Given the description of an element on the screen output the (x, y) to click on. 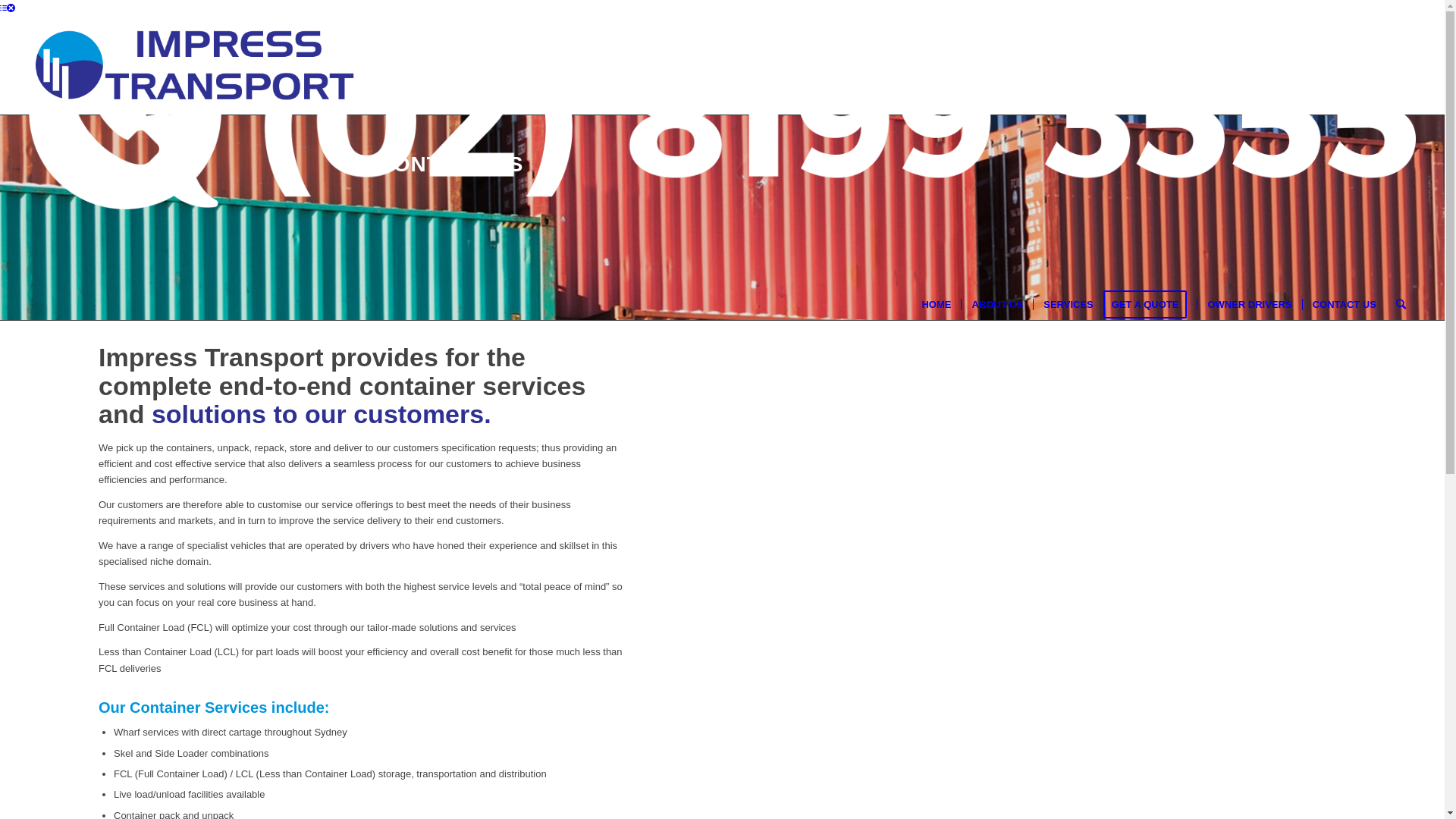
CONTACT US Element type: text (1344, 304)
SERVICES Element type: text (1067, 304)
ABOUT US Element type: text (996, 304)
HOME Element type: text (935, 304)
GET A QUOTE Element type: text (1150, 304)
OWNER DRIVERS Element type: text (1248, 304)
